Given the description of an element on the screen output the (x, y) to click on. 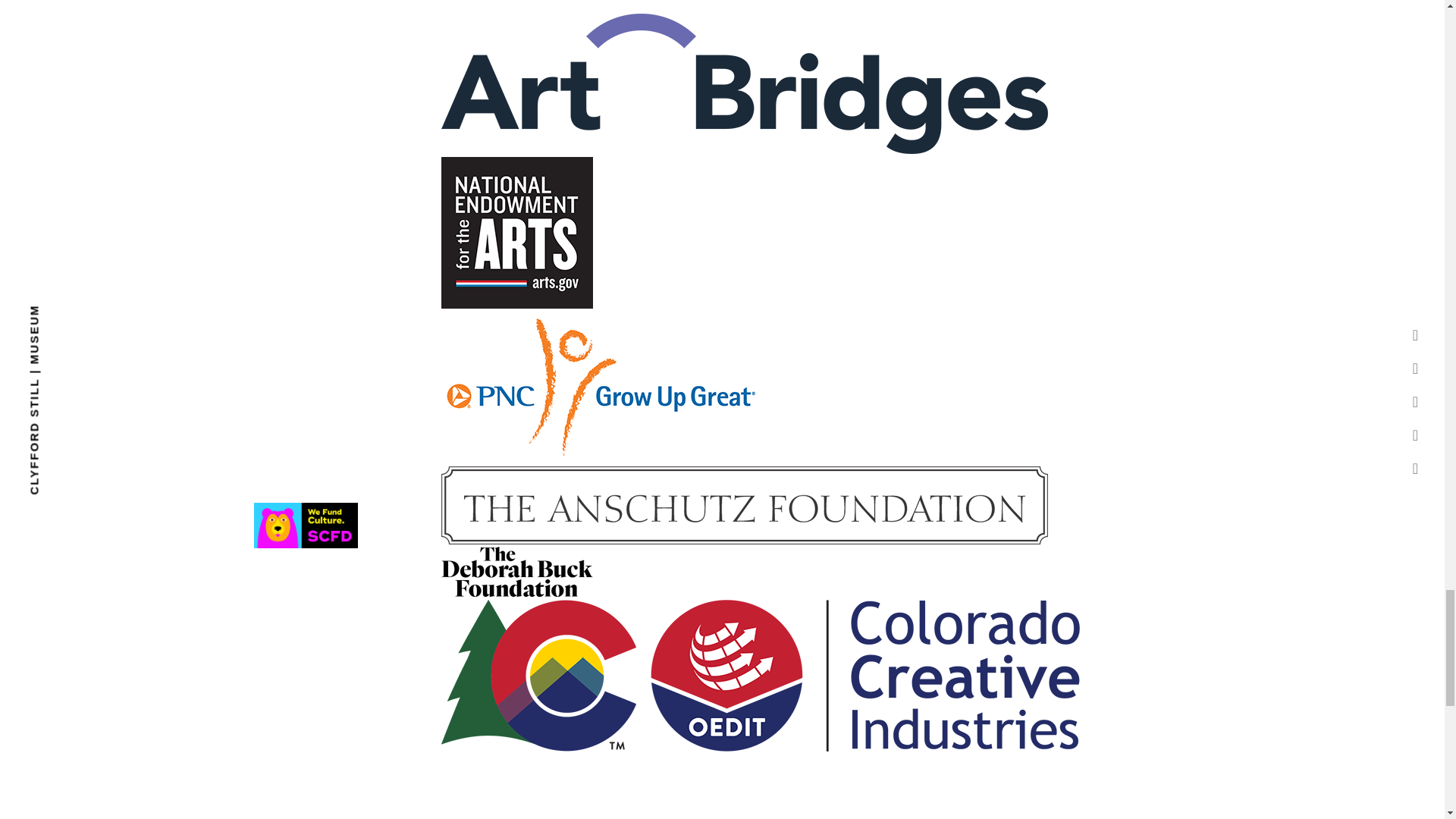
Art Bridges (744, 83)
Henry Luce Foundation (744, 5)
PNC Grow Up Great (601, 387)
SCFD (305, 524)
National Endowment for the Arts (516, 232)
